Given the description of an element on the screen output the (x, y) to click on. 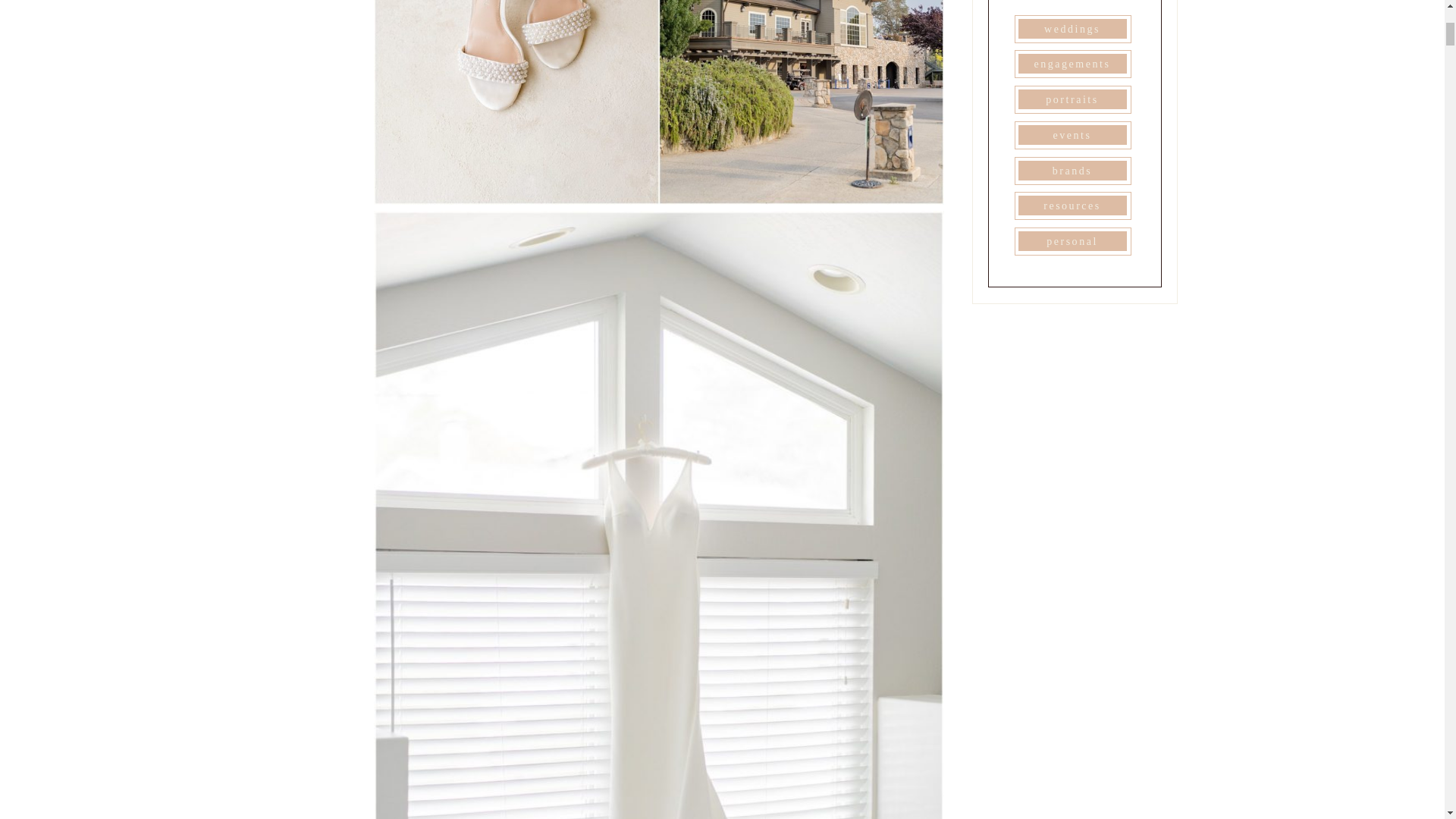
resources (1071, 205)
brands (1071, 170)
weddings (1071, 28)
personal (1071, 241)
portraits (1071, 99)
engagements (1071, 63)
events (1071, 134)
